Given the description of an element on the screen output the (x, y) to click on. 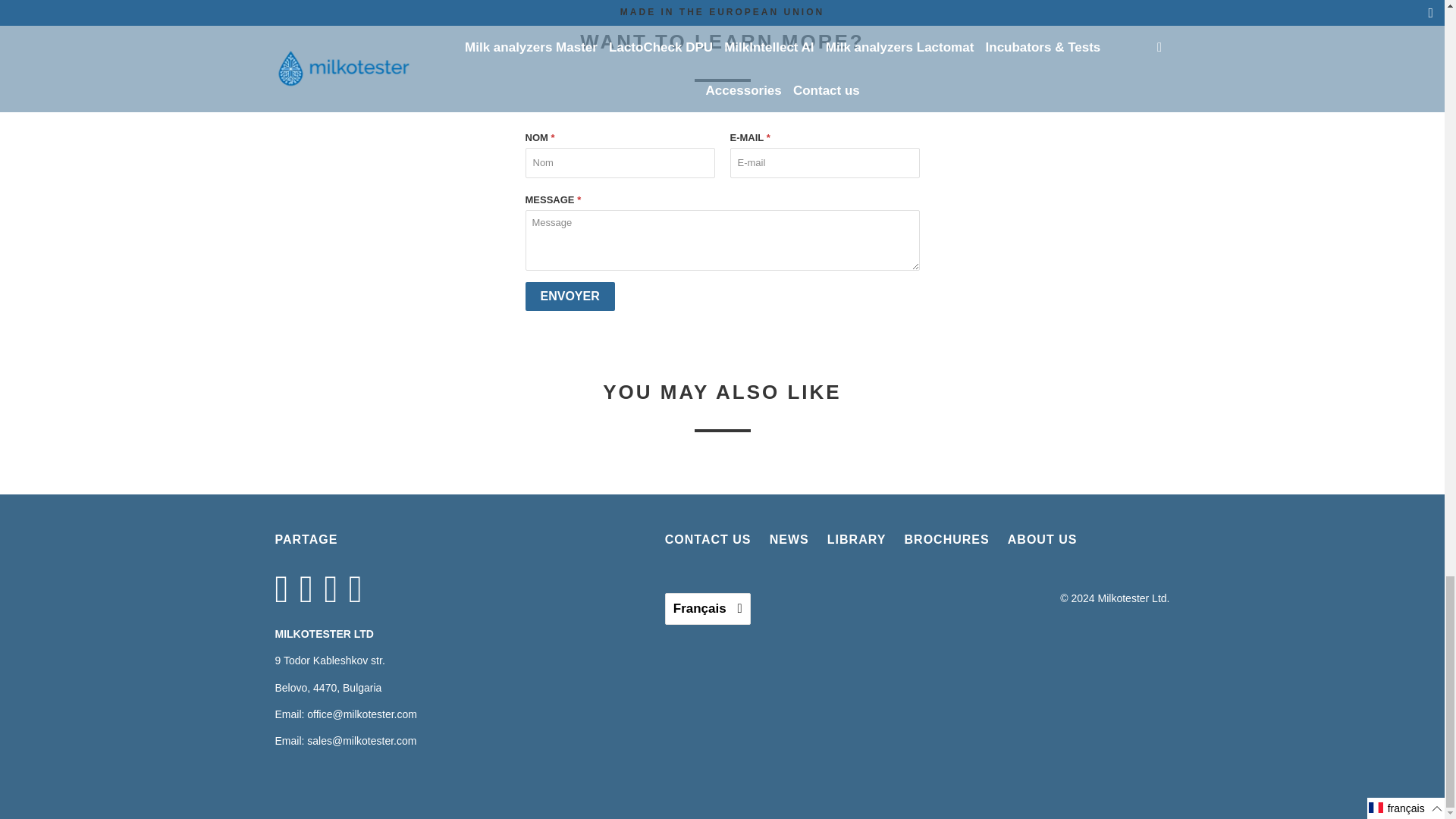
BROCHURES (947, 539)
CONTACT US (708, 539)
Envoyer (569, 296)
Envoyer (569, 296)
NEWS (789, 539)
LIBRARY (856, 539)
